Given the description of an element on the screen output the (x, y) to click on. 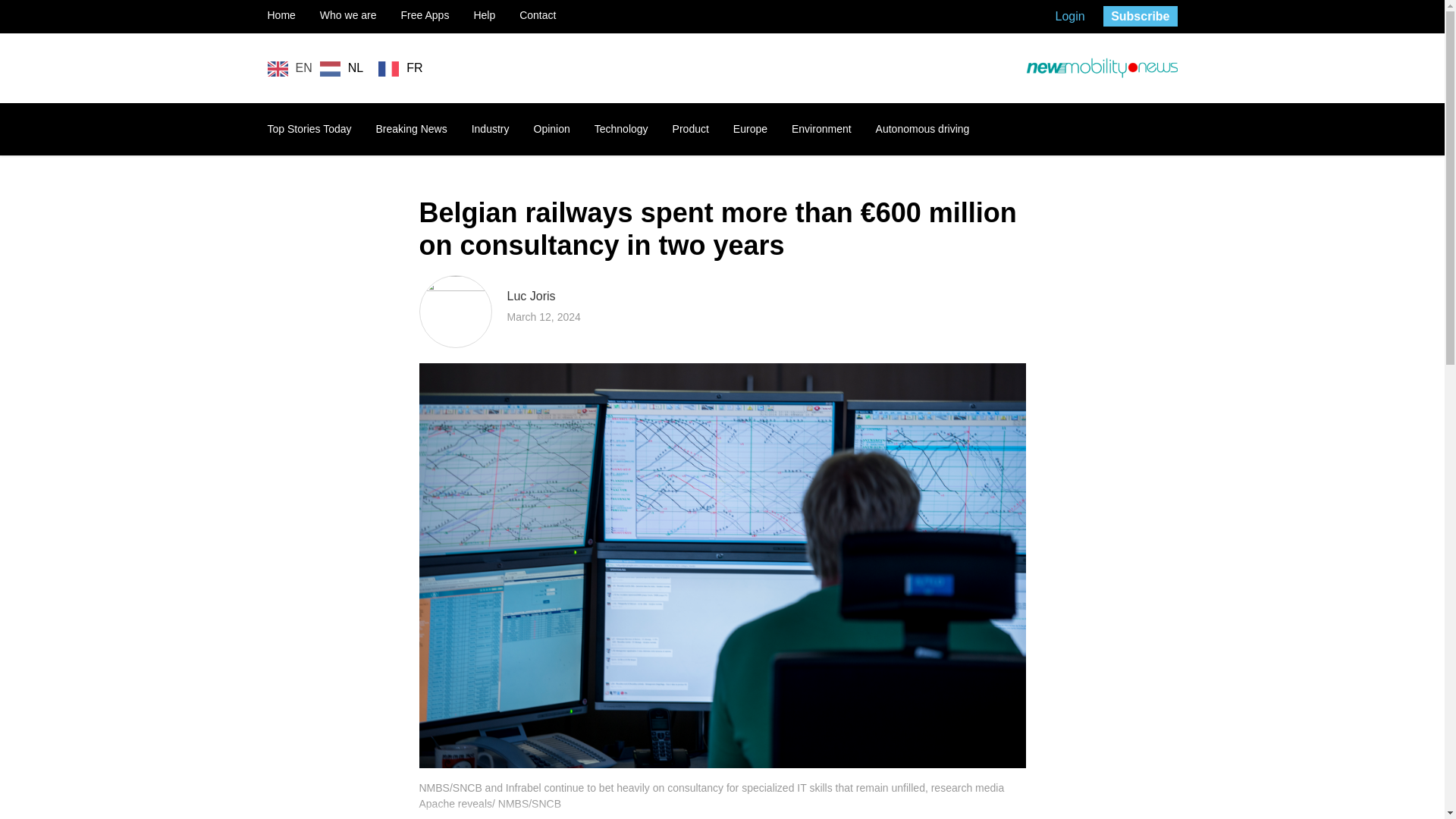
Home (280, 15)
Industry (490, 129)
Luc Joris (530, 295)
Subscribe (1139, 15)
Environment (821, 129)
FR (400, 67)
Product (690, 129)
newmobility.news (1100, 67)
Who we are (348, 15)
Breaking News (410, 129)
Top Stories Today (308, 129)
Help (484, 15)
Technology (620, 129)
Free Apps (425, 15)
Europe (750, 129)
